Given the description of an element on the screen output the (x, y) to click on. 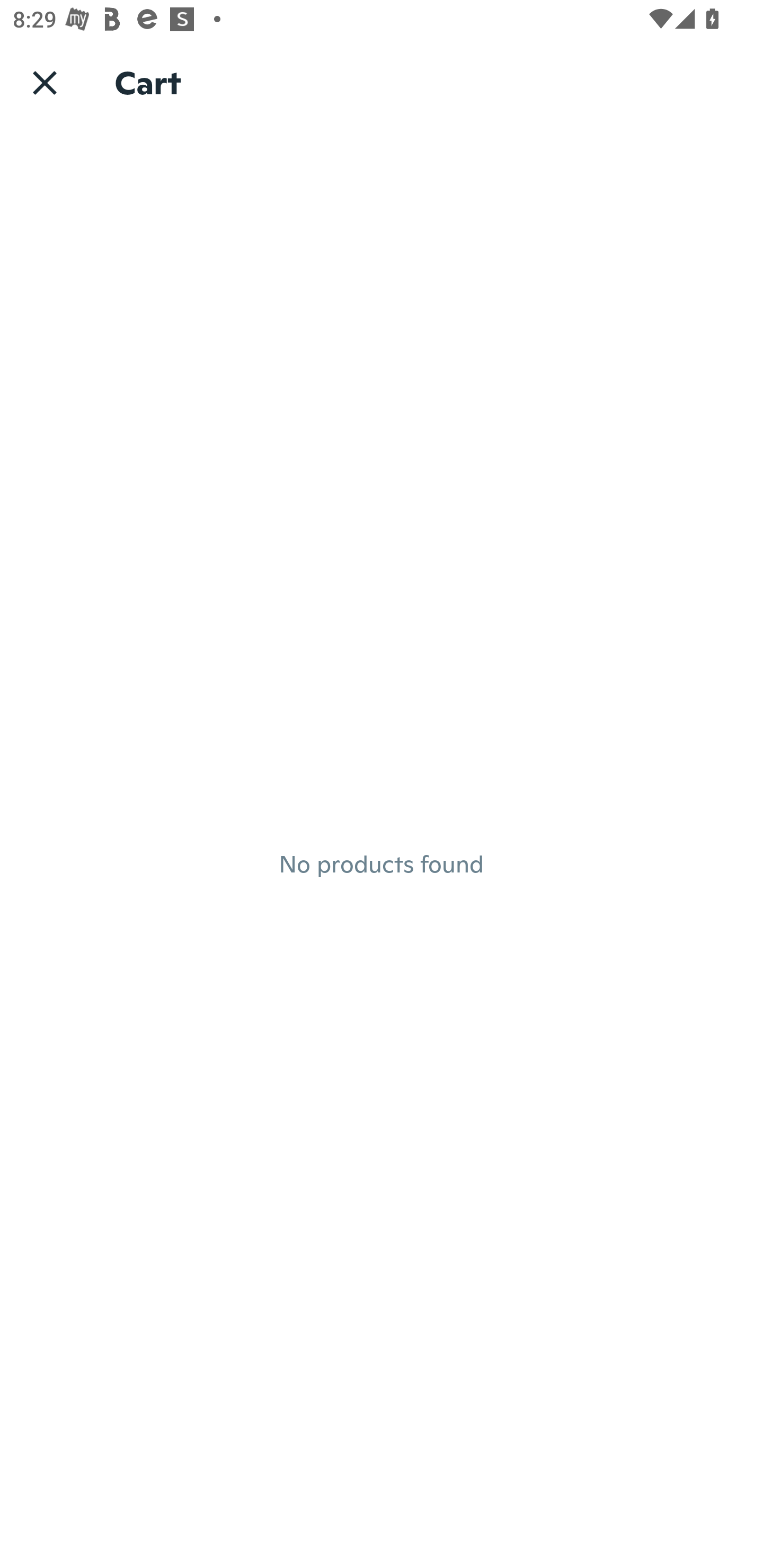
Navigate up (44, 82)
